Given the description of an element on the screen output the (x, y) to click on. 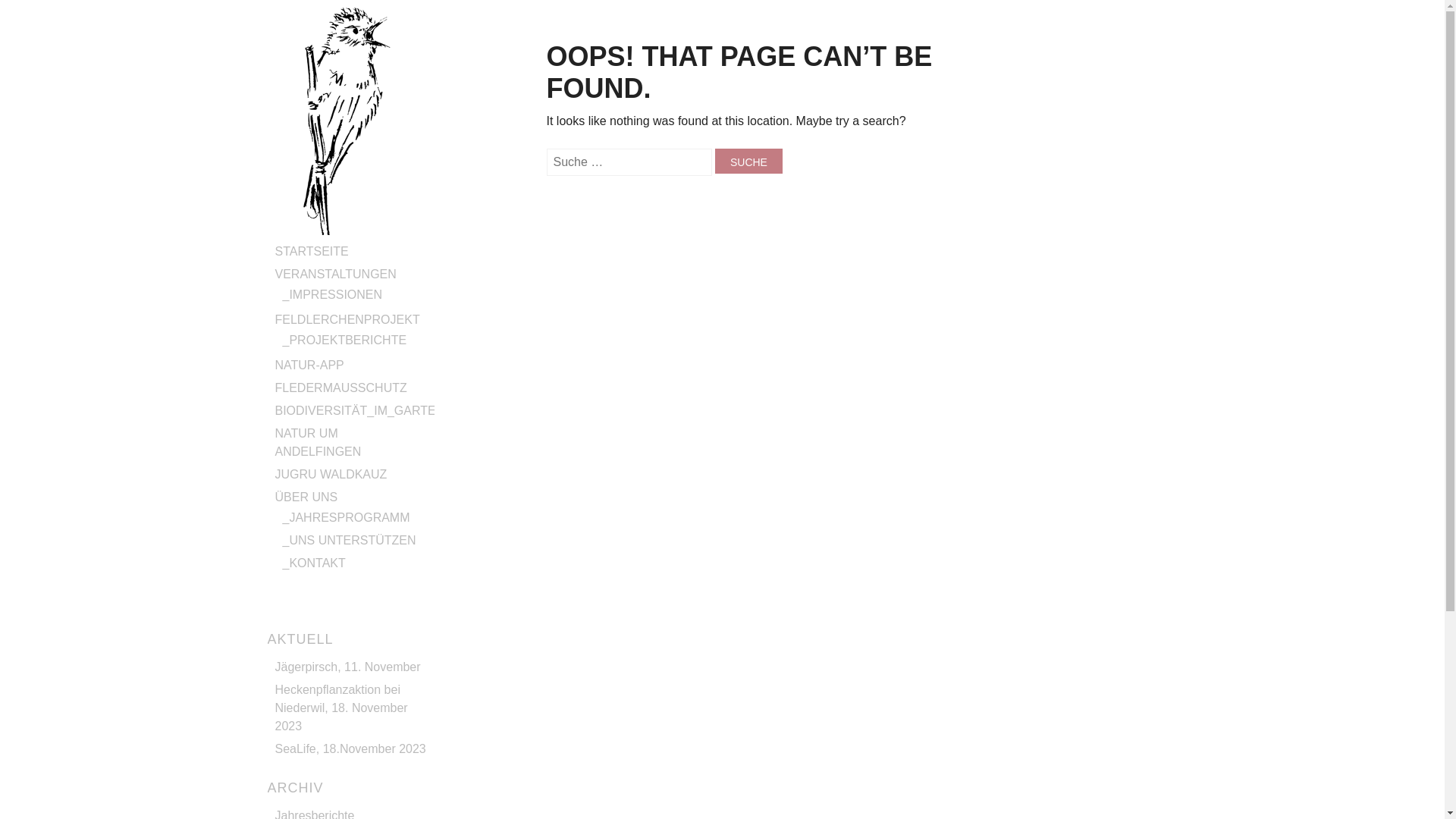
Suche Element type: text (33, 12)
NATUR-APP Element type: text (308, 364)
VERANSTALTUNGEN Element type: text (334, 273)
_KONTAKT Element type: text (313, 562)
_IMPRESSIONEN Element type: text (332, 294)
_PROJEKTBERICHTE Element type: text (344, 339)
_JAHRESPROGRAMM Element type: text (345, 517)
Suche Element type: text (748, 160)
FLEDERMAUSSCHUTZ Element type: text (340, 387)
STARTSEITE Element type: text (311, 250)
FELDLERCHENPROJEKT Element type: text (346, 319)
Andelfinger Naturschutzverein Element type: hover (345, 230)
Skip to content Element type: text (306, 249)
Heckenpflanzaktion bei Niederwil, 18. November 2023 Element type: text (340, 707)
NATUR UM ANDELFINGEN Element type: text (317, 442)
JUGRU WALDKAUZ Element type: text (330, 473)
SeaLife, 18.November 2023 Element type: text (349, 748)
